Given the description of an element on the screen output the (x, y) to click on. 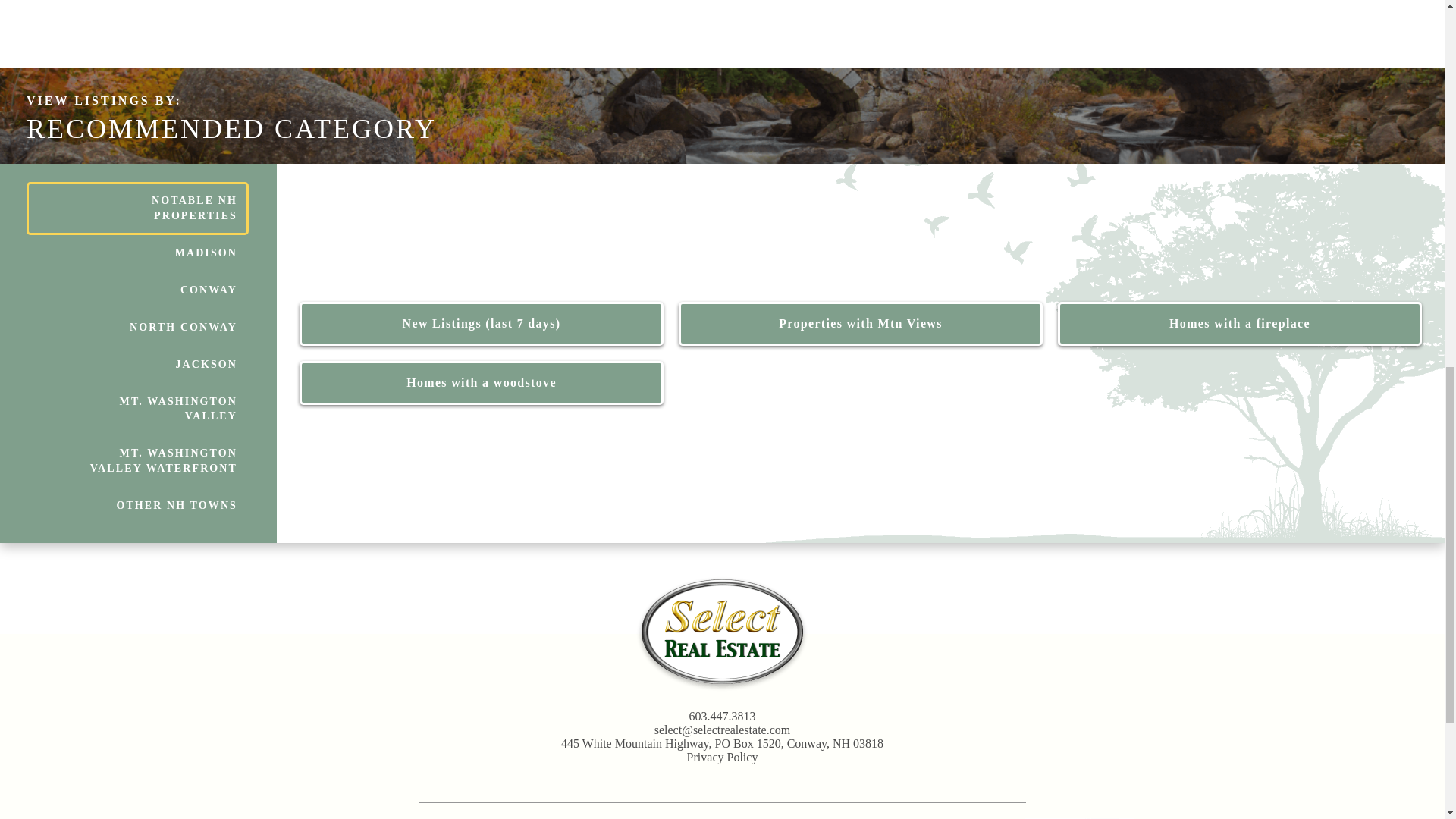
Homes with a fireplace (1240, 323)
Homes with mountain views (860, 323)
New Listings (481, 323)
Homes with woodstove (481, 382)
